Given the description of an element on the screen output the (x, y) to click on. 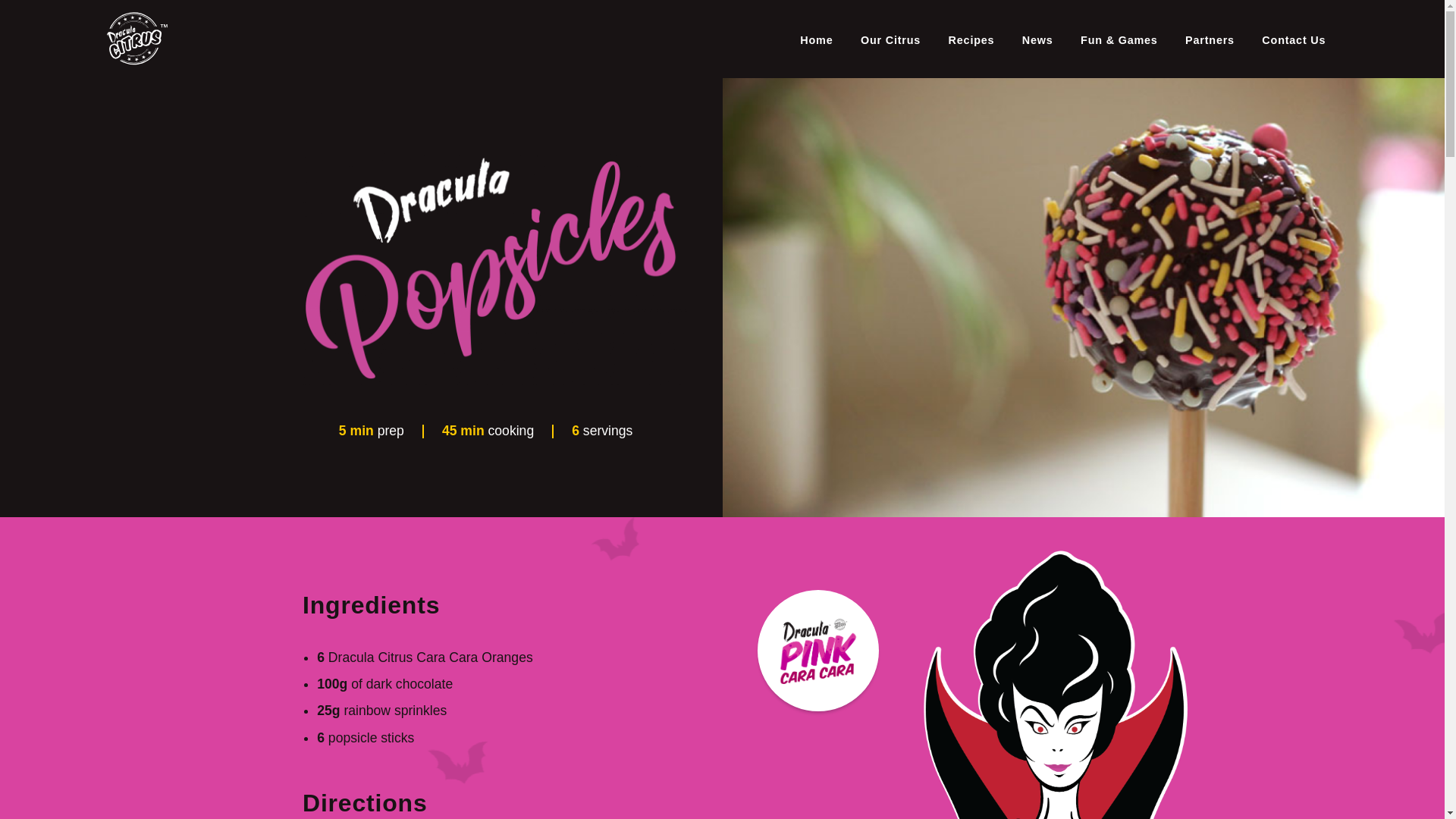
Partners (1209, 38)
Contact Us (1293, 38)
Our Citrus (890, 38)
Recipes (971, 38)
